Given the description of an element on the screen output the (x, y) to click on. 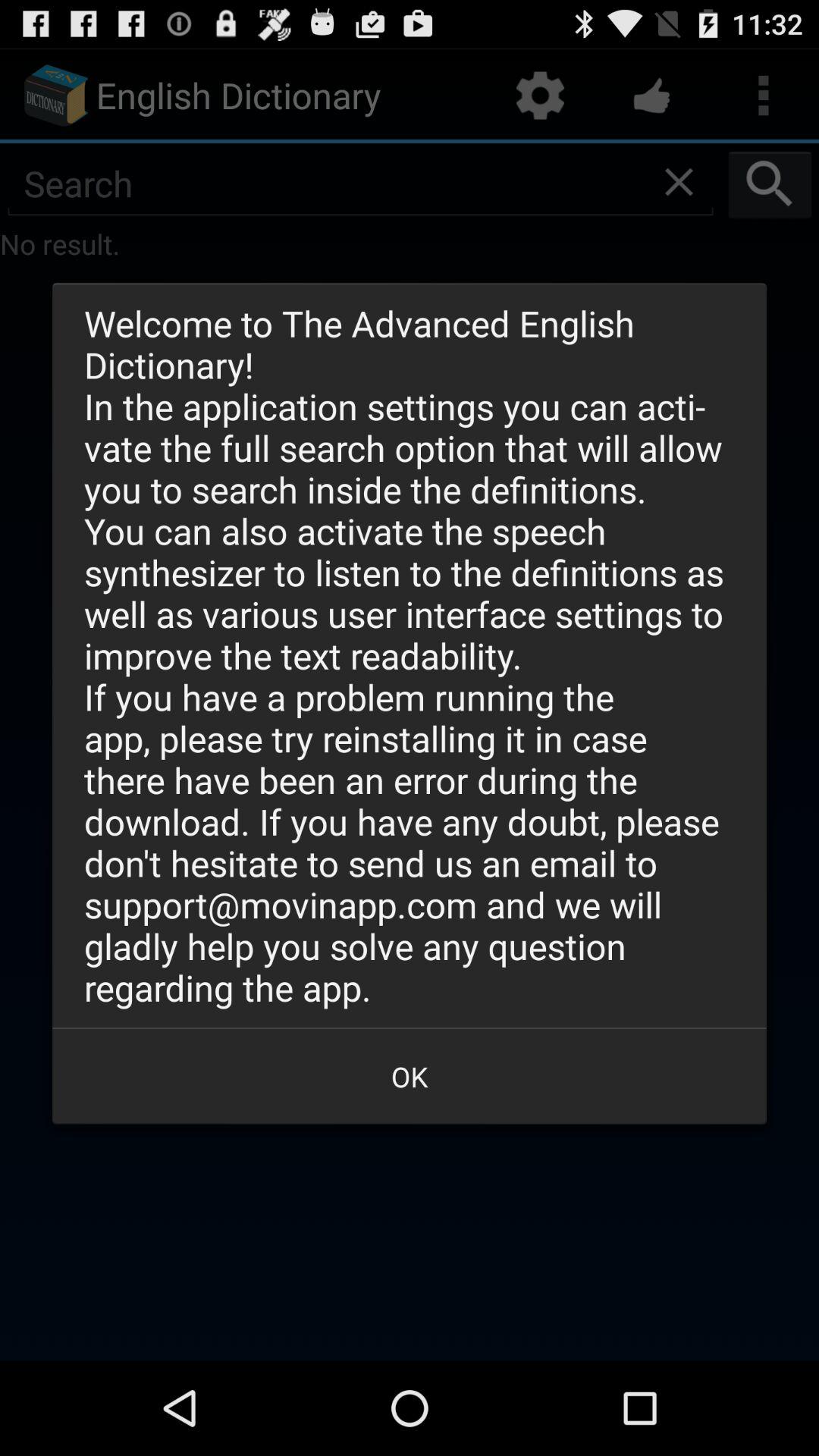
choose ok (409, 1076)
